Given the description of an element on the screen output the (x, y) to click on. 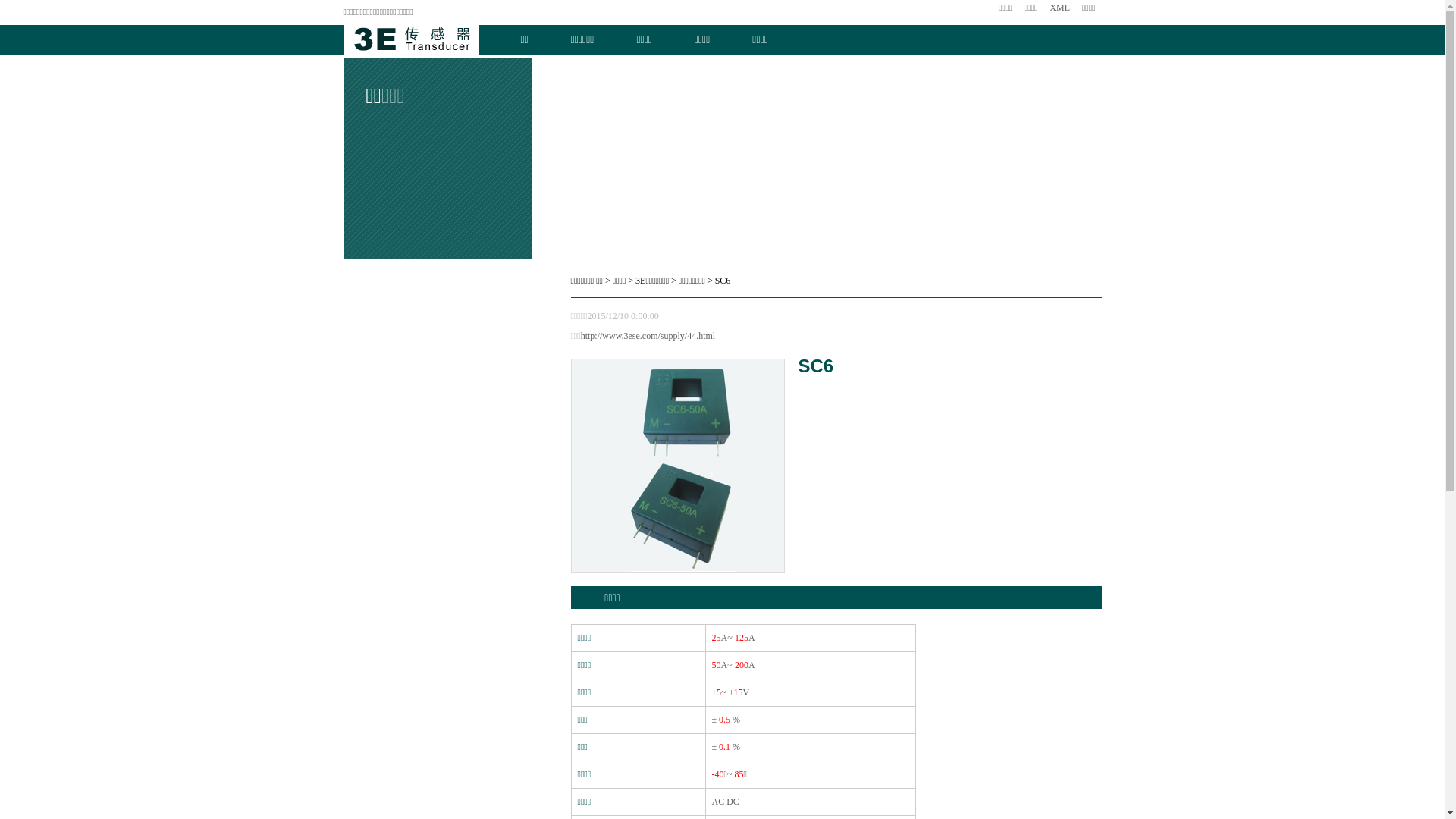
SC6 Element type: text (723, 280)
http://www.3ese.com/supply/44.html Element type: text (647, 335)
XML Element type: text (1059, 7)
